Given the description of an element on the screen output the (x, y) to click on. 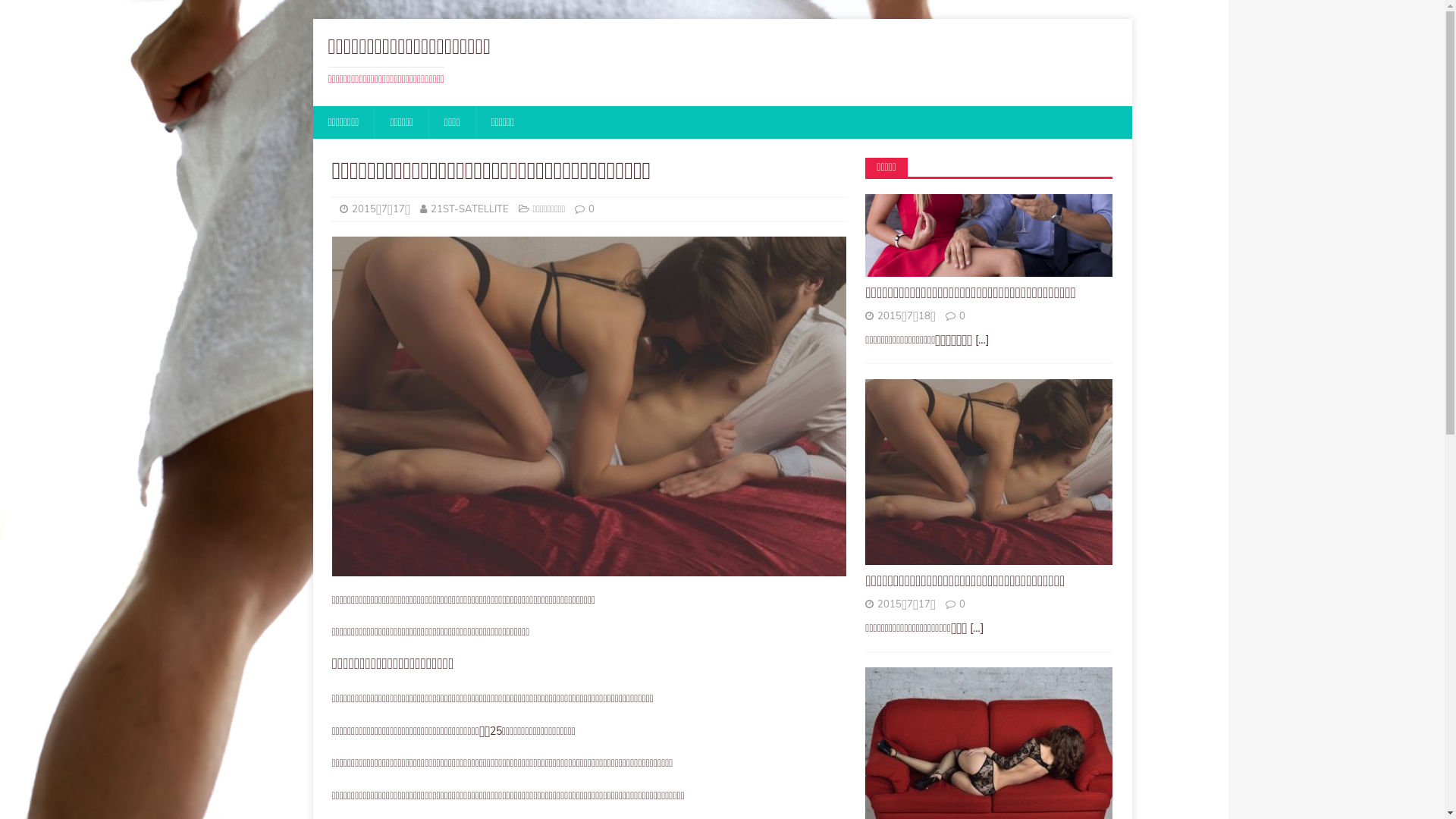
21ST-SATELLITE Element type: text (469, 208)
0 Element type: text (591, 208)
3371780729269367 Element type: hover (589, 406)
0 Element type: text (962, 315)
0 Element type: text (962, 603)
